Given the description of an element on the screen output the (x, y) to click on. 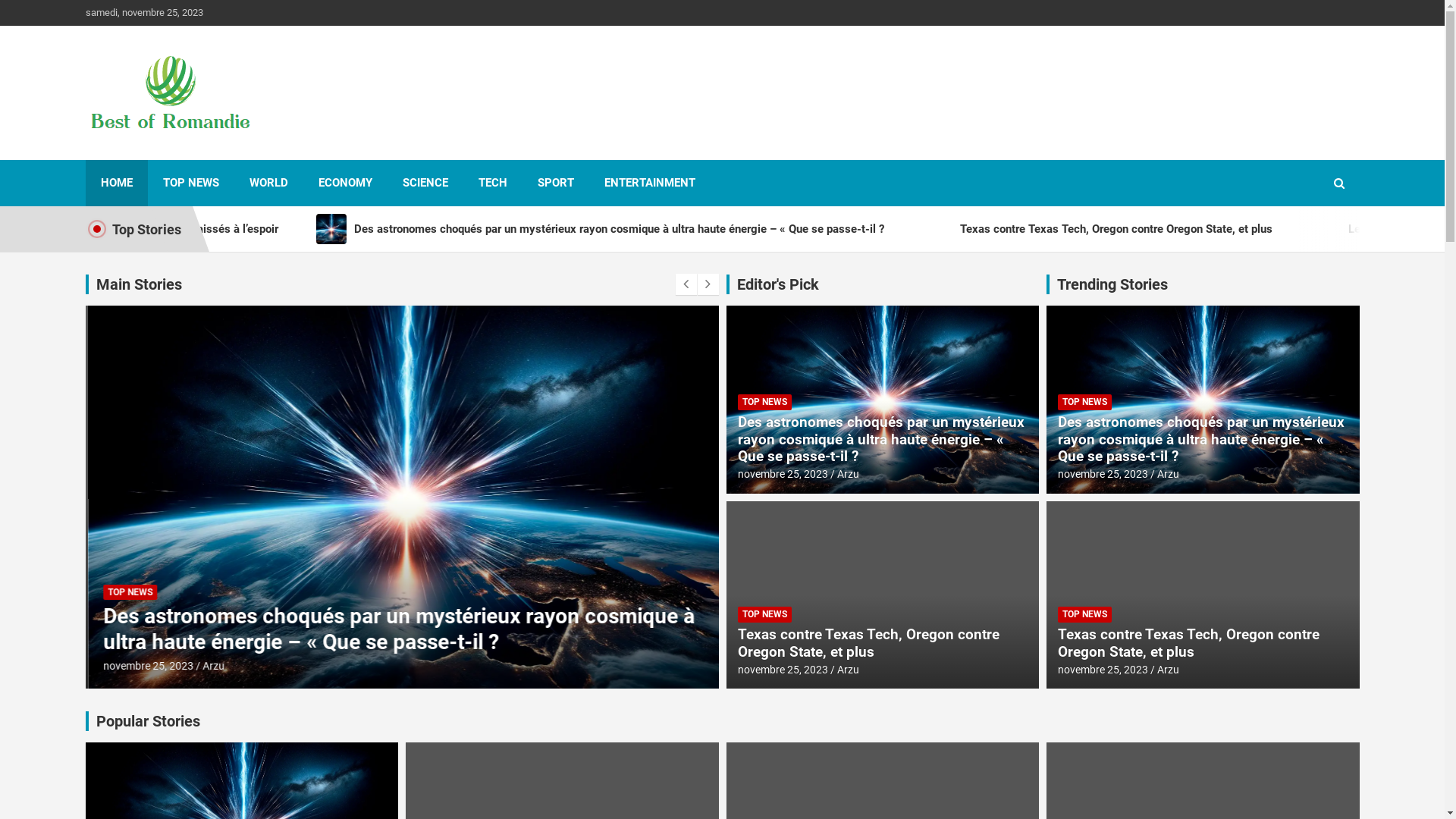
Arzu Element type: text (1168, 473)
Arzu Element type: text (211, 665)
Arzu Element type: text (1168, 669)
ECONOMY Element type: text (345, 183)
novembre 25, 2023 Element type: text (782, 473)
novembre 25, 2023 Element type: text (1102, 669)
TOP NEWS Element type: text (763, 402)
Texas contre Texas Tech, Oregon contre Oregon State, et plus Element type: text (1188, 642)
SPORT Element type: text (554, 183)
ENTERTAINMENT Element type: text (648, 183)
Arzu Element type: text (848, 473)
novembre 24, 2023 Element type: text (145, 665)
Arzu Element type: text (848, 669)
novembre 25, 2023 Element type: text (782, 669)
TOP NEWS Element type: text (1084, 402)
TOP NEWS Element type: text (126, 592)
TECH Element type: text (491, 183)
WORLD Element type: text (267, 183)
Texas contre Texas Tech, Oregon contre Oregon State, et plus Element type: text (867, 642)
TOP NEWS Element type: text (190, 183)
TOP NEWS Element type: text (1084, 614)
SCIENCE Element type: text (424, 183)
HOME Element type: text (115, 183)
novembre 25, 2023 Element type: text (1102, 473)
Best of Romandie Element type: text (206, 156)
TOP NEWS Element type: text (763, 614)
